Given the description of an element on the screen output the (x, y) to click on. 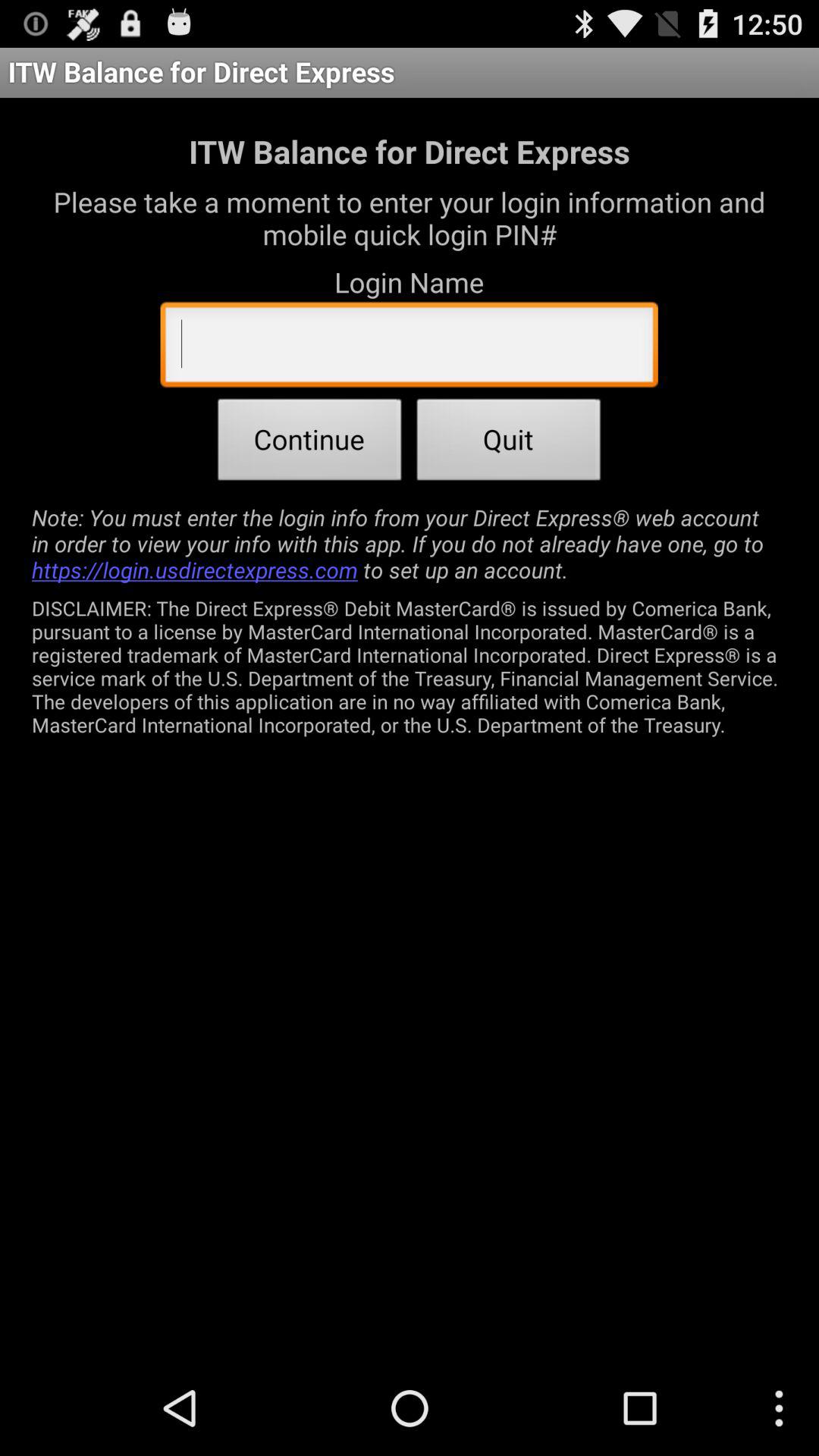
click the icon next to the quit (309, 443)
